Given the description of an element on the screen output the (x, y) to click on. 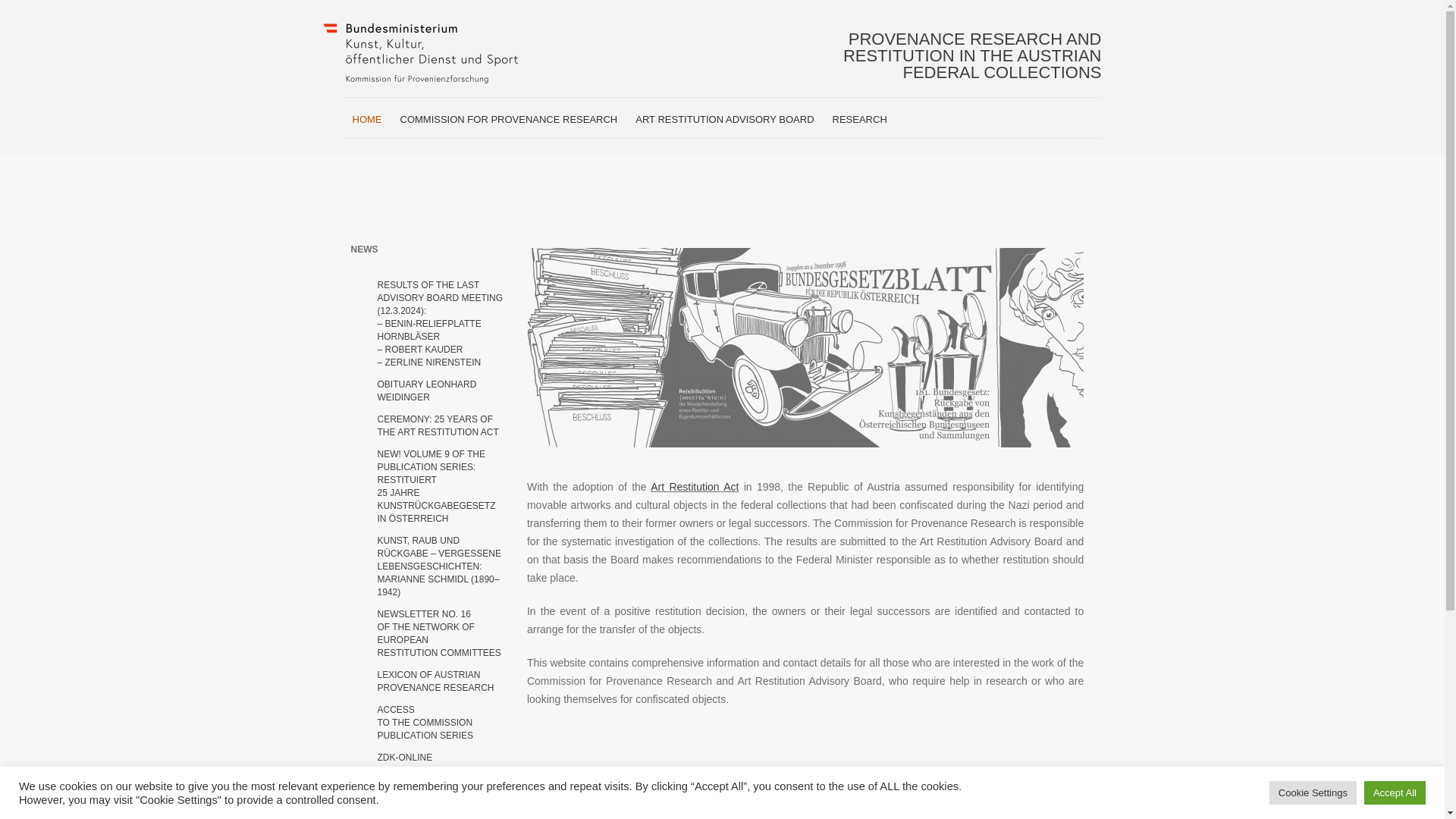
ZDK-ONLINE (440, 757)
HOME (365, 119)
OBITUARY LEONHARD WEIDINGER (440, 391)
Accept All (1394, 792)
CEREMONY: 25 YEARS OF THE ART RESTITUTION ACT (440, 425)
Art Restitution Act (694, 486)
COMMISSION FOR PROVENANCE RESEARCH (509, 119)
LEXICON OF AUSTRIAN PROVENANCE RESEARCH (440, 681)
ART RESTITUTION ADVISORY BOARD (724, 119)
Cookie Settings (1312, 792)
RESEARCH (440, 722)
